Given the description of an element on the screen output the (x, y) to click on. 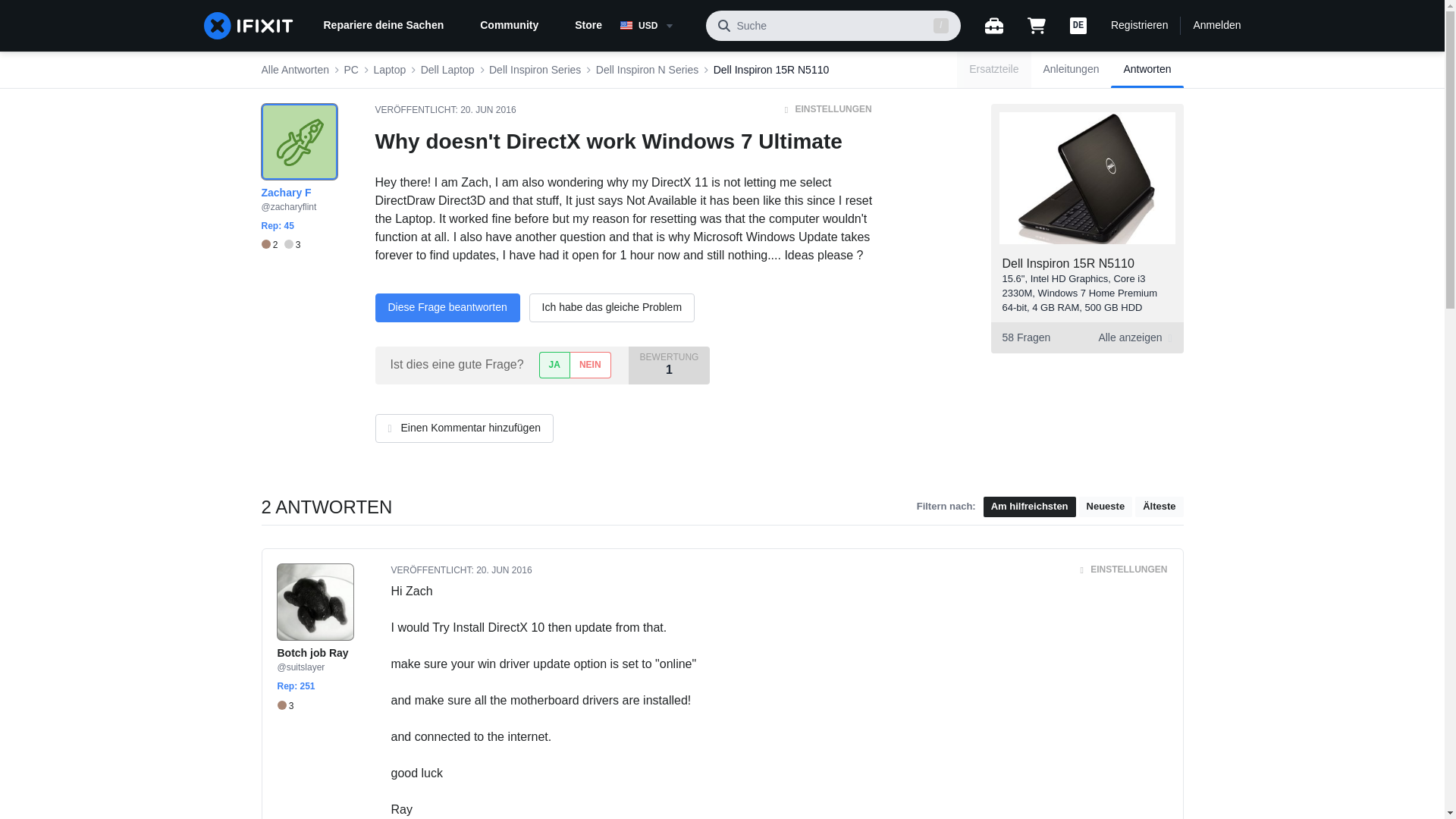
Mon, 20 Jun 2016 13:15:53 -0700 (503, 570)
Antworten (1146, 69)
2 3 (279, 245)
3 Silber Auszeichnungen (292, 245)
2 Bronze Auszeichnungen (271, 245)
Laptop (389, 69)
Dell Laptop (447, 69)
Mon, 20 Jun 2016 11:44:56 -0700 (487, 109)
Anmelden (1216, 25)
Diese Frage beantworten (446, 307)
